Given the description of an element on the screen output the (x, y) to click on. 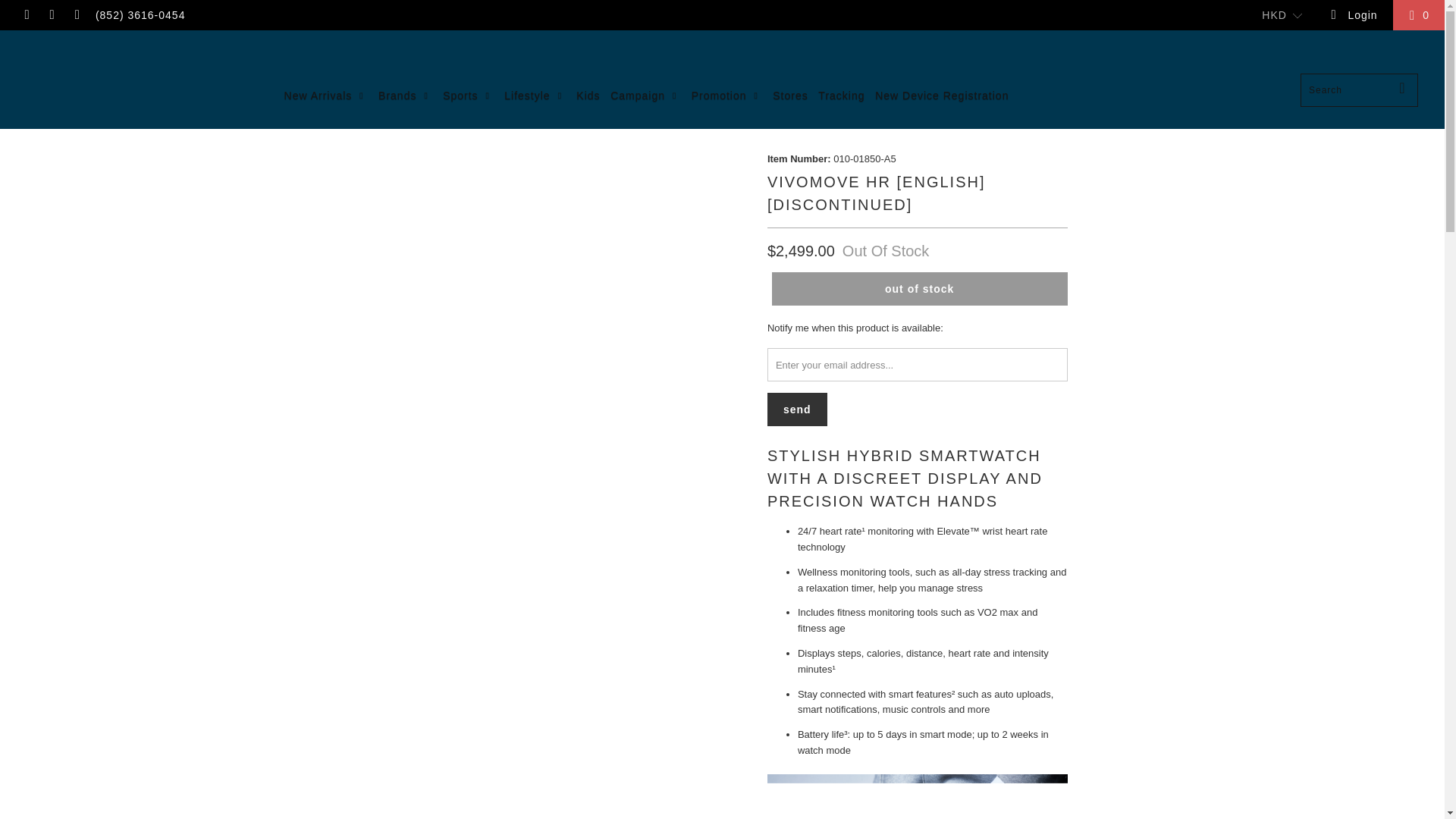
Email TTOT Limited (76, 15)
Send (797, 409)
TTOT Limited on Facebook (25, 15)
TTOT Limited on Instagram (51, 15)
My Account  (1352, 15)
